Given the description of an element on the screen output the (x, y) to click on. 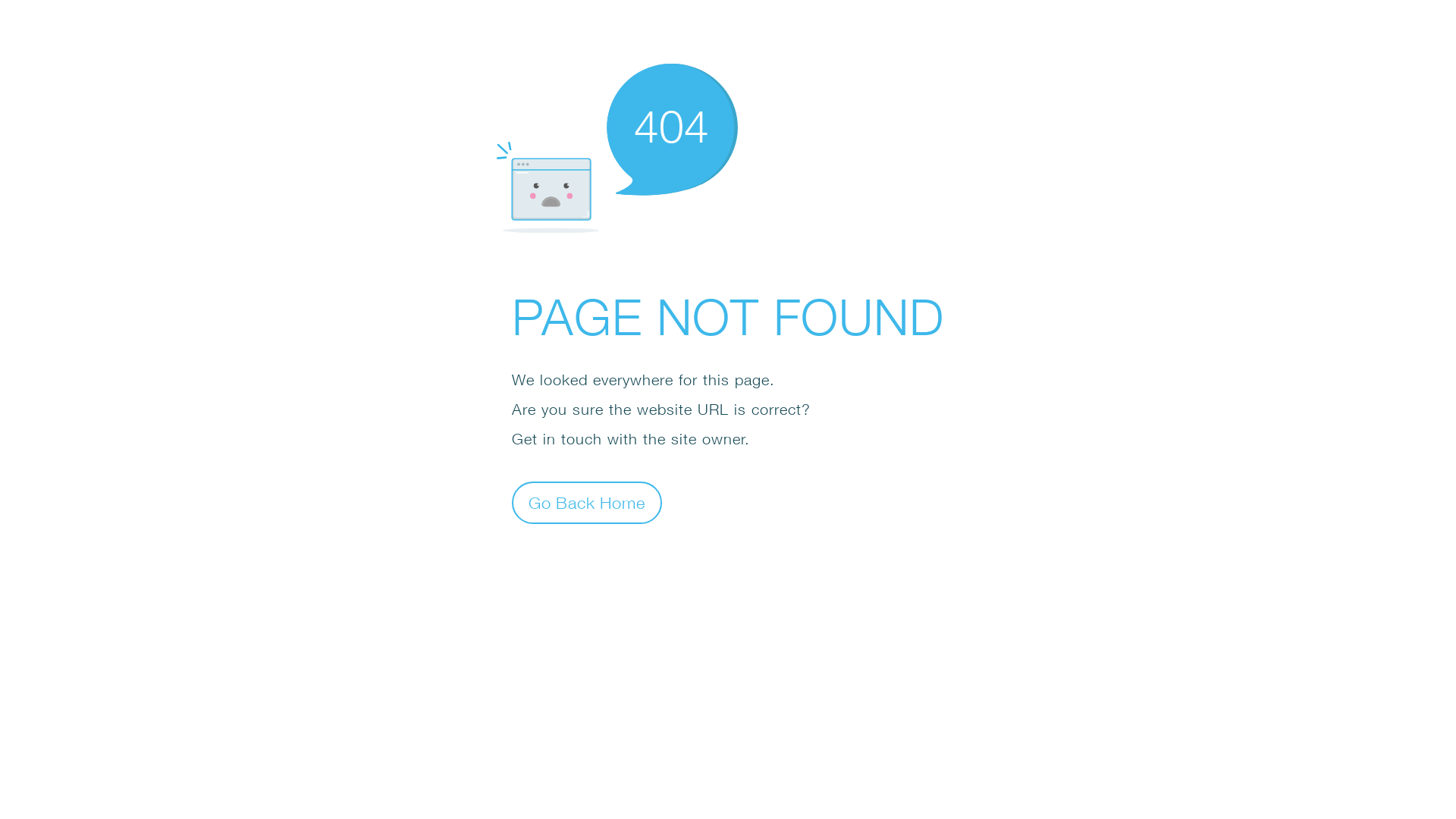
Go Back Home Element type: text (586, 502)
